Given the description of an element on the screen output the (x, y) to click on. 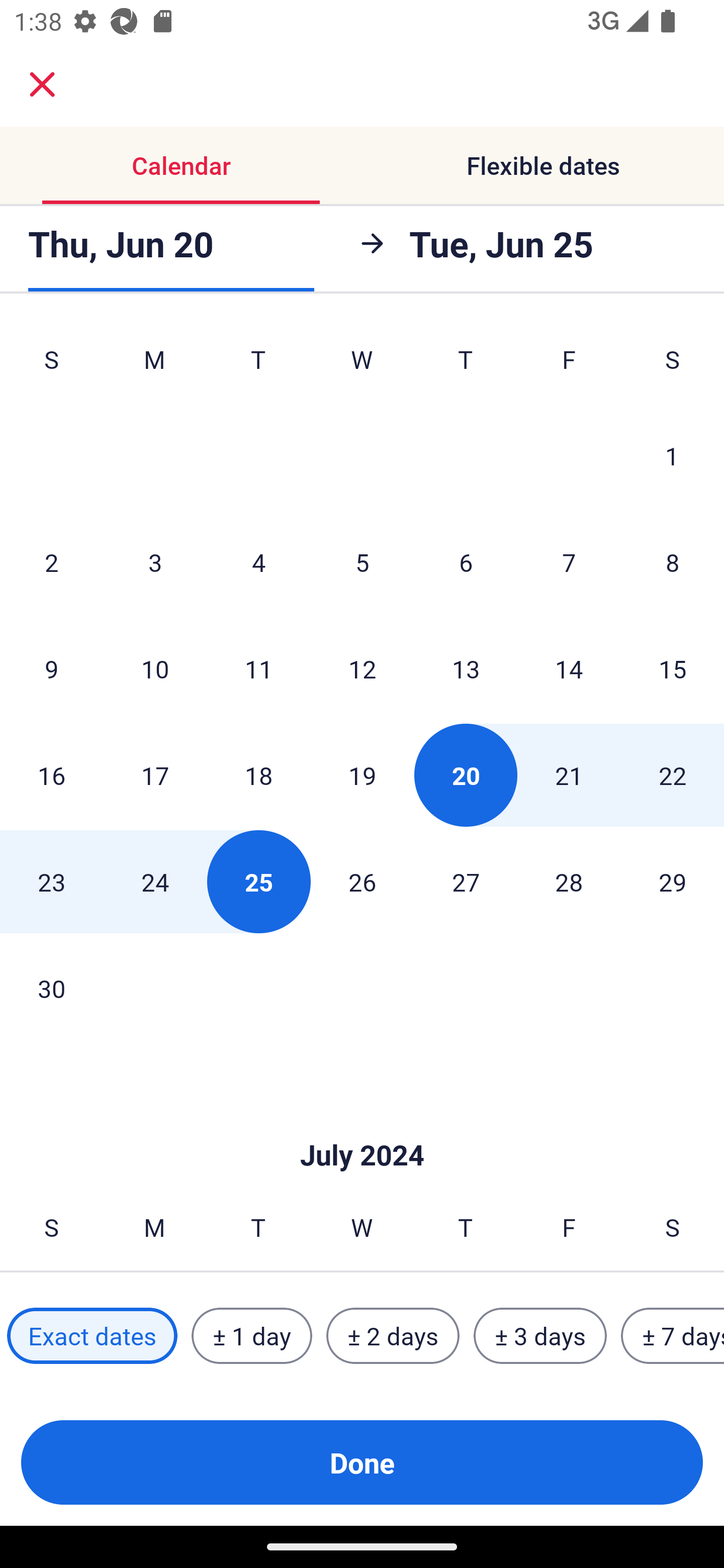
close. (42, 84)
Flexible dates (542, 164)
1 Saturday, June 1, 2024 (672, 455)
2 Sunday, June 2, 2024 (51, 562)
3 Monday, June 3, 2024 (155, 562)
4 Tuesday, June 4, 2024 (258, 562)
5 Wednesday, June 5, 2024 (362, 562)
6 Thursday, June 6, 2024 (465, 562)
7 Friday, June 7, 2024 (569, 562)
8 Saturday, June 8, 2024 (672, 562)
9 Sunday, June 9, 2024 (51, 668)
10 Monday, June 10, 2024 (155, 668)
11 Tuesday, June 11, 2024 (258, 668)
12 Wednesday, June 12, 2024 (362, 668)
13 Thursday, June 13, 2024 (465, 668)
14 Friday, June 14, 2024 (569, 668)
15 Saturday, June 15, 2024 (672, 668)
16 Sunday, June 16, 2024 (51, 775)
17 Monday, June 17, 2024 (155, 775)
18 Tuesday, June 18, 2024 (258, 775)
19 Wednesday, June 19, 2024 (362, 775)
26 Wednesday, June 26, 2024 (362, 880)
27 Thursday, June 27, 2024 (465, 880)
28 Friday, June 28, 2024 (569, 880)
29 Saturday, June 29, 2024 (672, 880)
30 Sunday, June 30, 2024 (51, 987)
Skip to Done (362, 1125)
Exact dates (92, 1335)
± 1 day (251, 1335)
± 2 days (392, 1335)
± 3 days (539, 1335)
± 7 days (672, 1335)
Done (361, 1462)
